Given the description of an element on the screen output the (x, y) to click on. 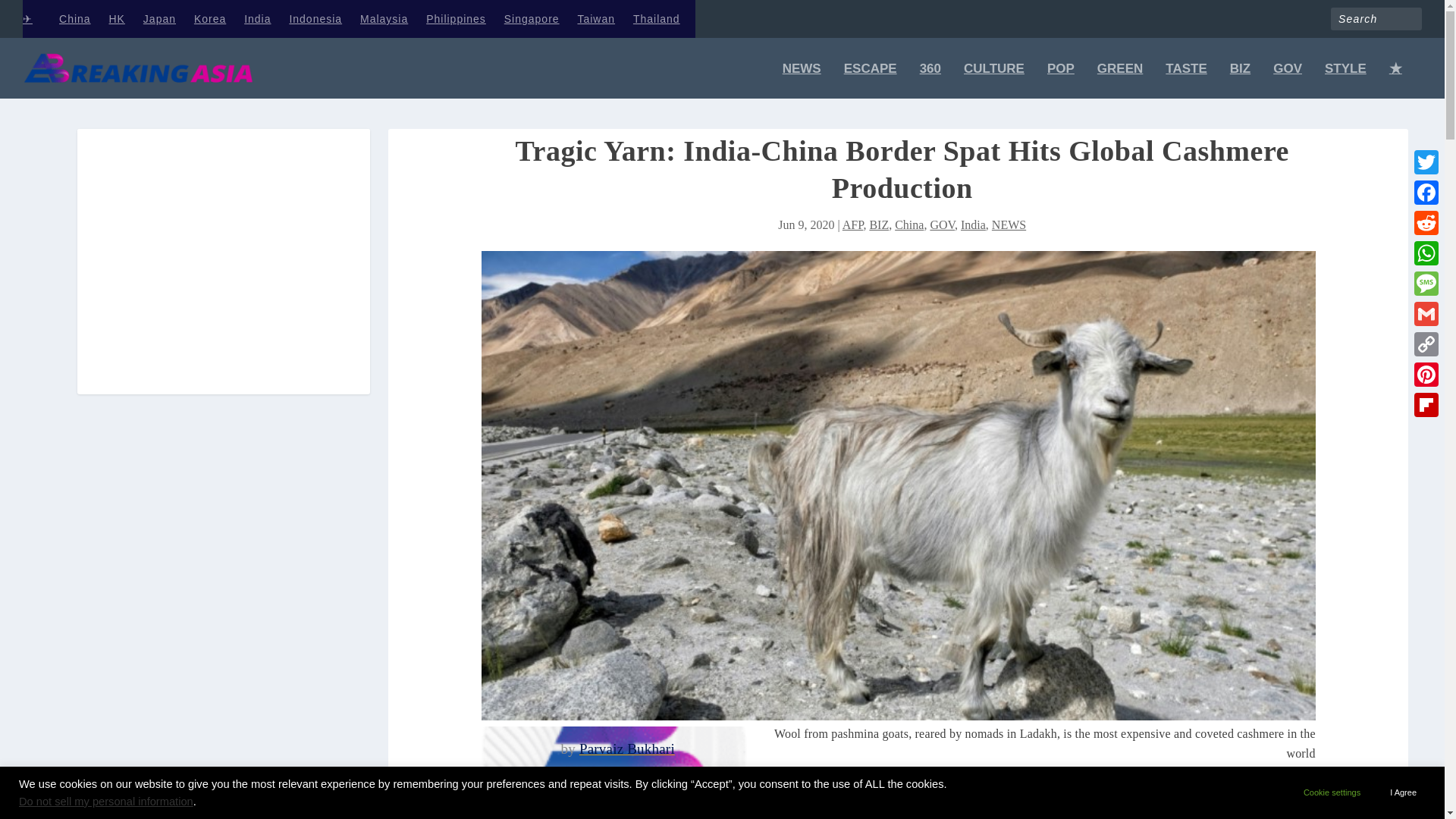
STYLE (1345, 80)
Indonesia (315, 18)
POP (1060, 80)
TASTE (1186, 80)
Facebook (1425, 192)
Search for: (1376, 18)
Advertisement (224, 273)
Korea (209, 18)
Japan (159, 18)
BIZ (1240, 80)
GOV (1286, 80)
HK (117, 18)
India (257, 18)
GREEN (1119, 80)
SMS (1425, 283)
